Given the description of an element on the screen output the (x, y) to click on. 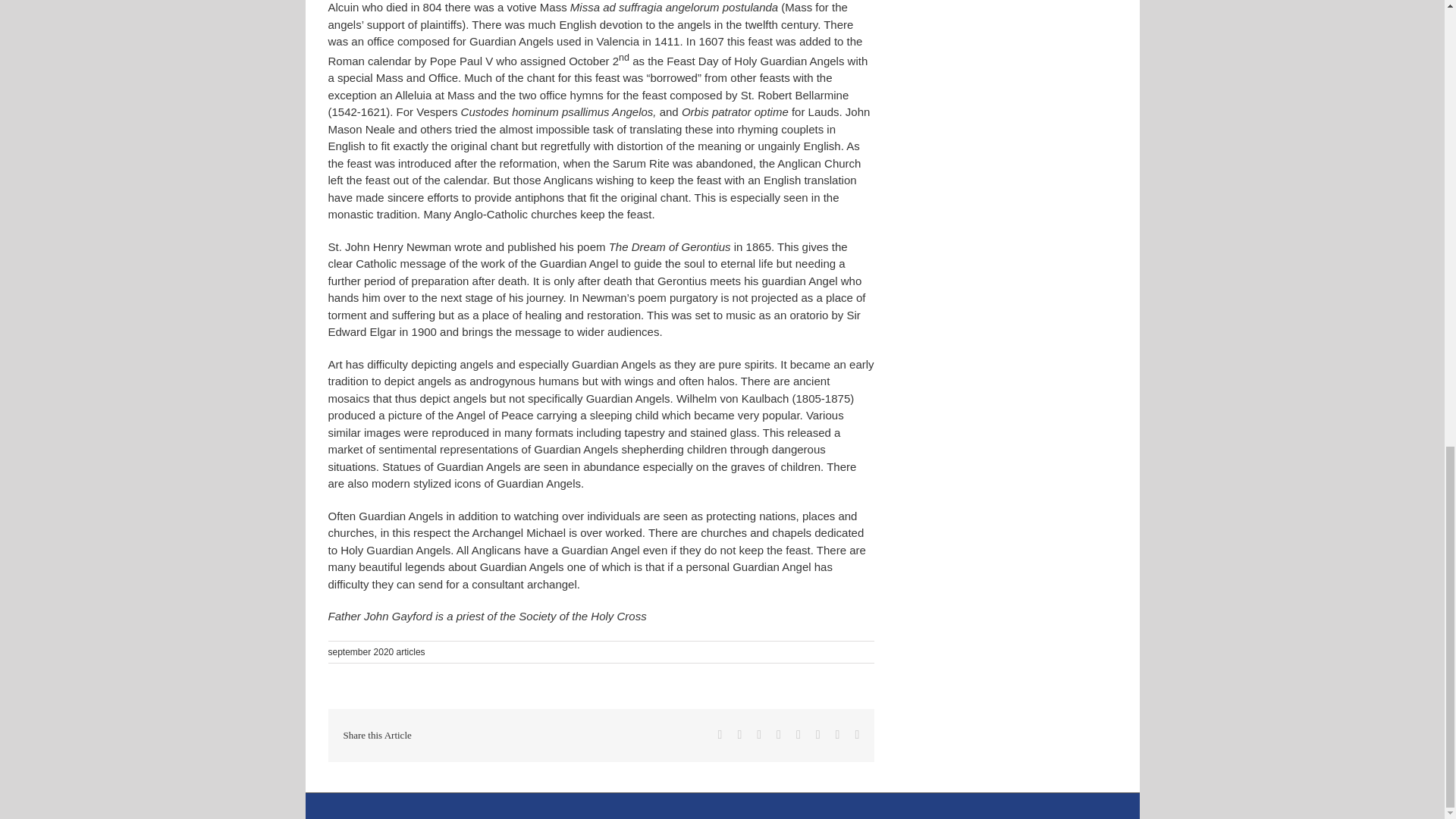
september 2020 articles (376, 652)
